Given the description of an element on the screen output the (x, y) to click on. 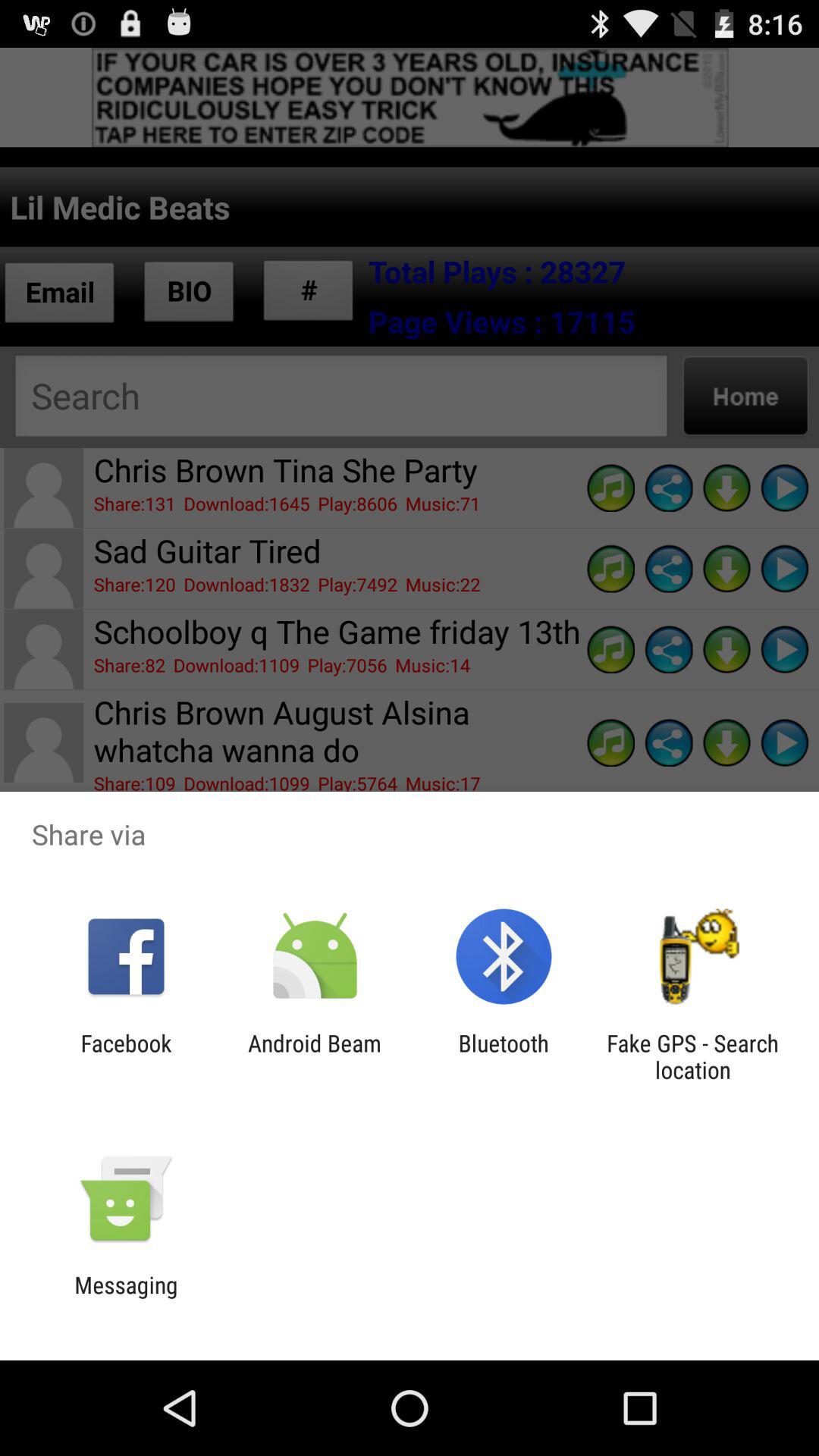
jump to android beam icon (314, 1056)
